Given the description of an element on the screen output the (x, y) to click on. 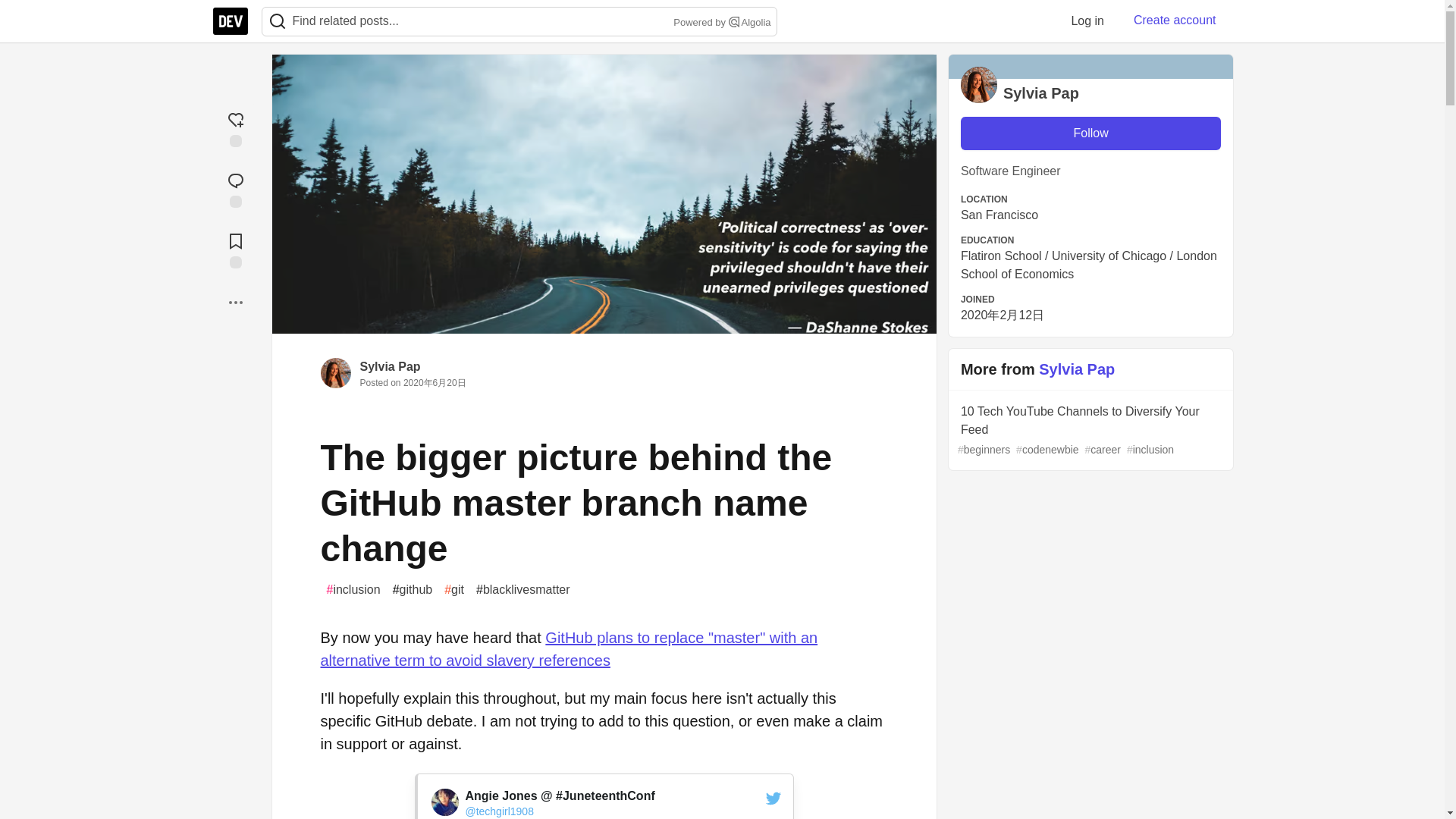
Search (277, 21)
More... (234, 302)
Powered by Search Algolia (720, 22)
Log in (1087, 20)
More... (234, 302)
Sylvia Pap (389, 366)
Create account (1174, 20)
Search (276, 21)
Search (734, 21)
